Given the description of an element on the screen output the (x, y) to click on. 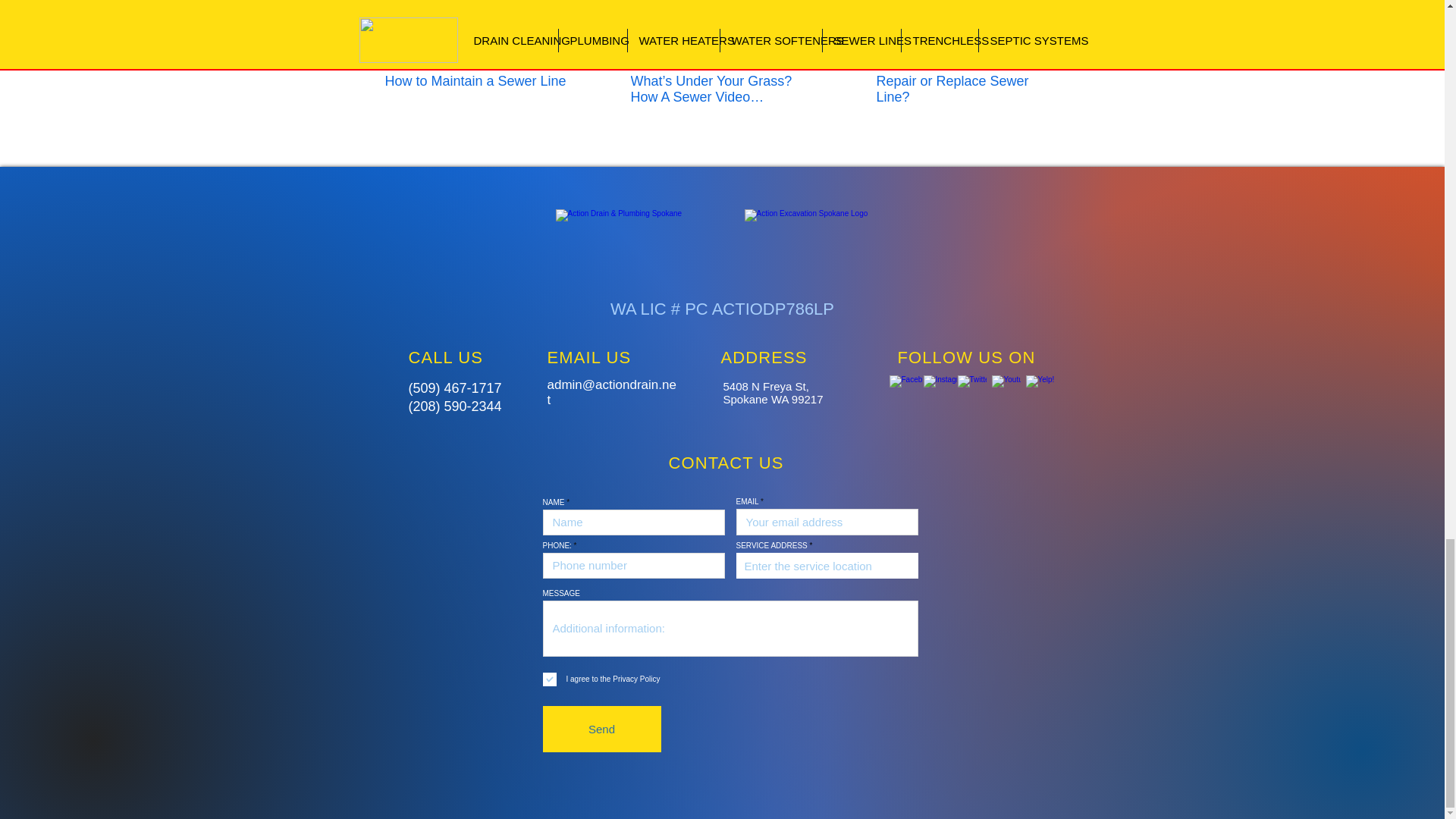
Repair or Replace Sewer Line? (967, 89)
How to Maintain a Sewer Line (476, 81)
